Given the description of an element on the screen output the (x, y) to click on. 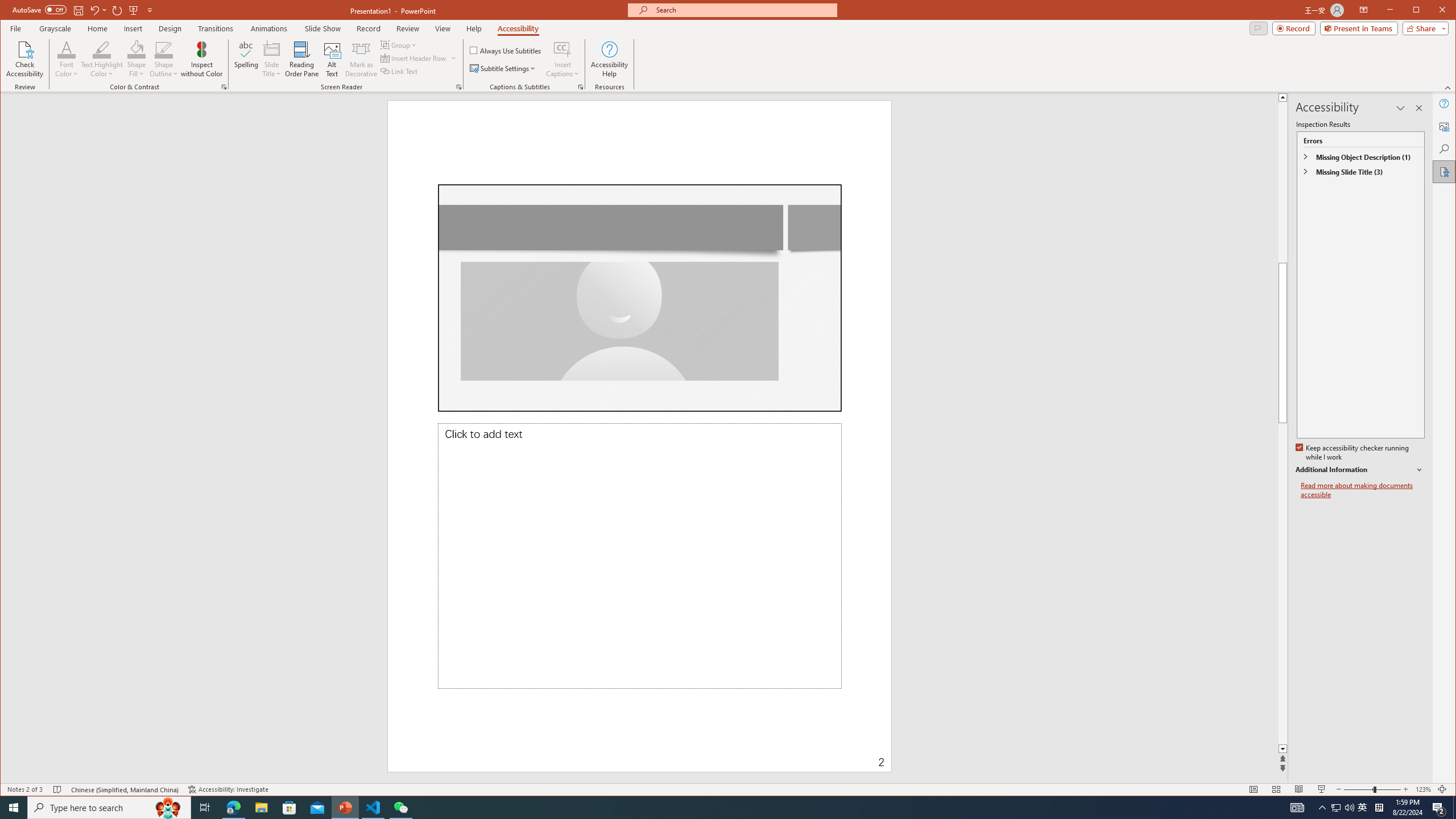
Page Number (781, 754)
Zoom 123% (1422, 789)
Check Accessibility (25, 59)
